Given the description of an element on the screen output the (x, y) to click on. 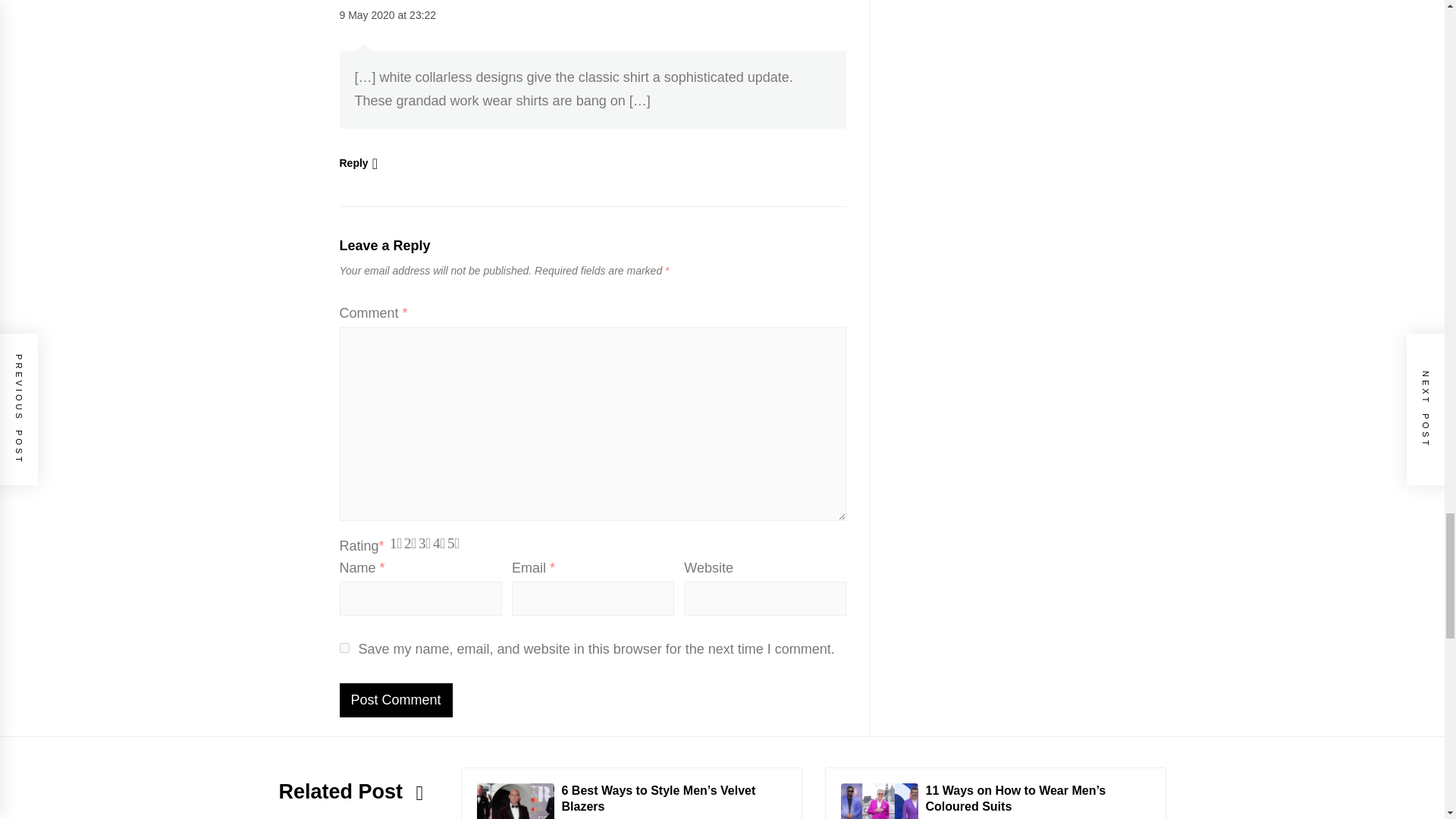
9 May 2020 at 23:22 (387, 15)
Post Comment (395, 700)
Reply (358, 162)
yes (344, 647)
